Given the description of an element on the screen output the (x, y) to click on. 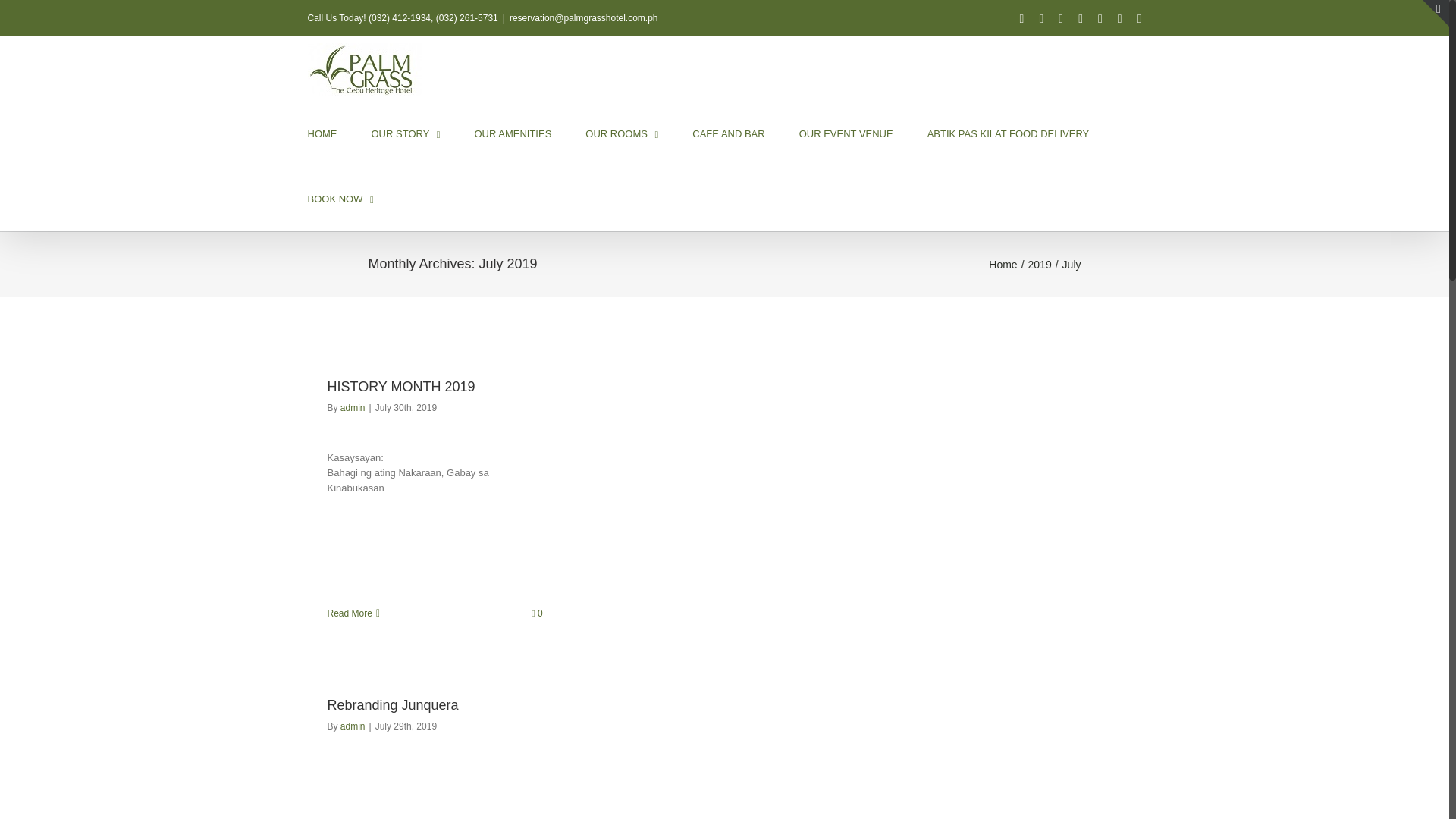
OUR STORY (406, 132)
OUR AMENITIES (512, 132)
BOOK NOW (340, 197)
ABTIK PAS KILAT FOOD DELIVERY (1008, 132)
OUR EVENT VENUE (846, 132)
Posts by admin (352, 726)
CAFE AND BAR (728, 132)
Posts by admin (352, 407)
OUR ROOMS (621, 132)
